Given the description of an element on the screen output the (x, y) to click on. 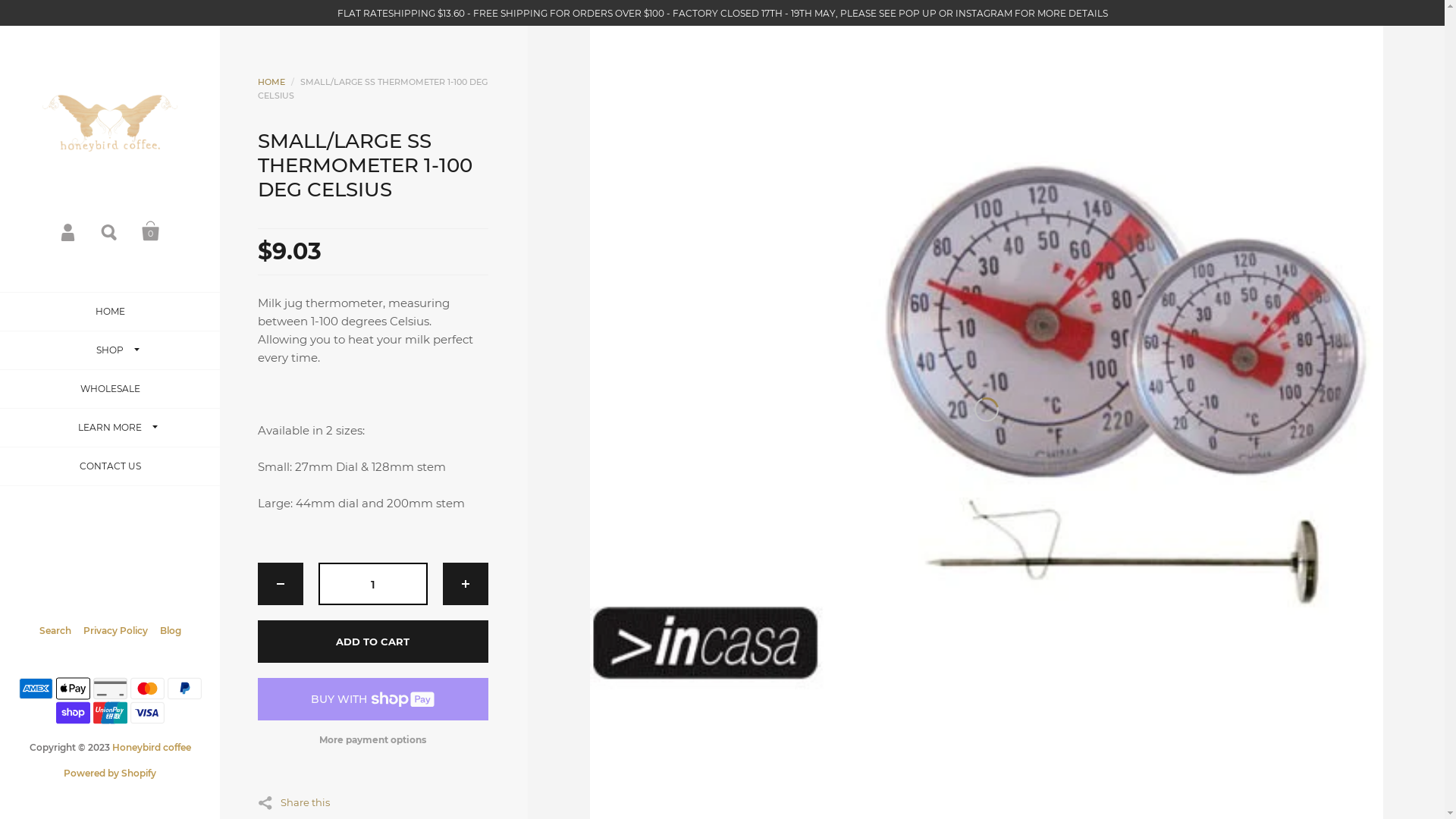
Account Element type: text (68, 230)
Cart Element type: text (150, 230)
More payment options Element type: text (372, 739)
Blog Element type: text (169, 630)
Search Element type: text (109, 230)
CONTACT US Element type: text (109, 466)
LEARN MORE Element type: text (109, 427)
Search Element type: text (60, 630)
Powered by Shopify Element type: text (109, 772)
Privacy Policy Element type: text (120, 630)
Honeybird coffee Element type: text (151, 747)
WHOLESALE Element type: text (109, 389)
Share this Element type: text (293, 800)
HOME Element type: text (271, 81)
HOME Element type: text (109, 311)
ADD TO CART Element type: text (372, 641)
SHOP Element type: text (109, 350)
